Given the description of an element on the screen output the (x, y) to click on. 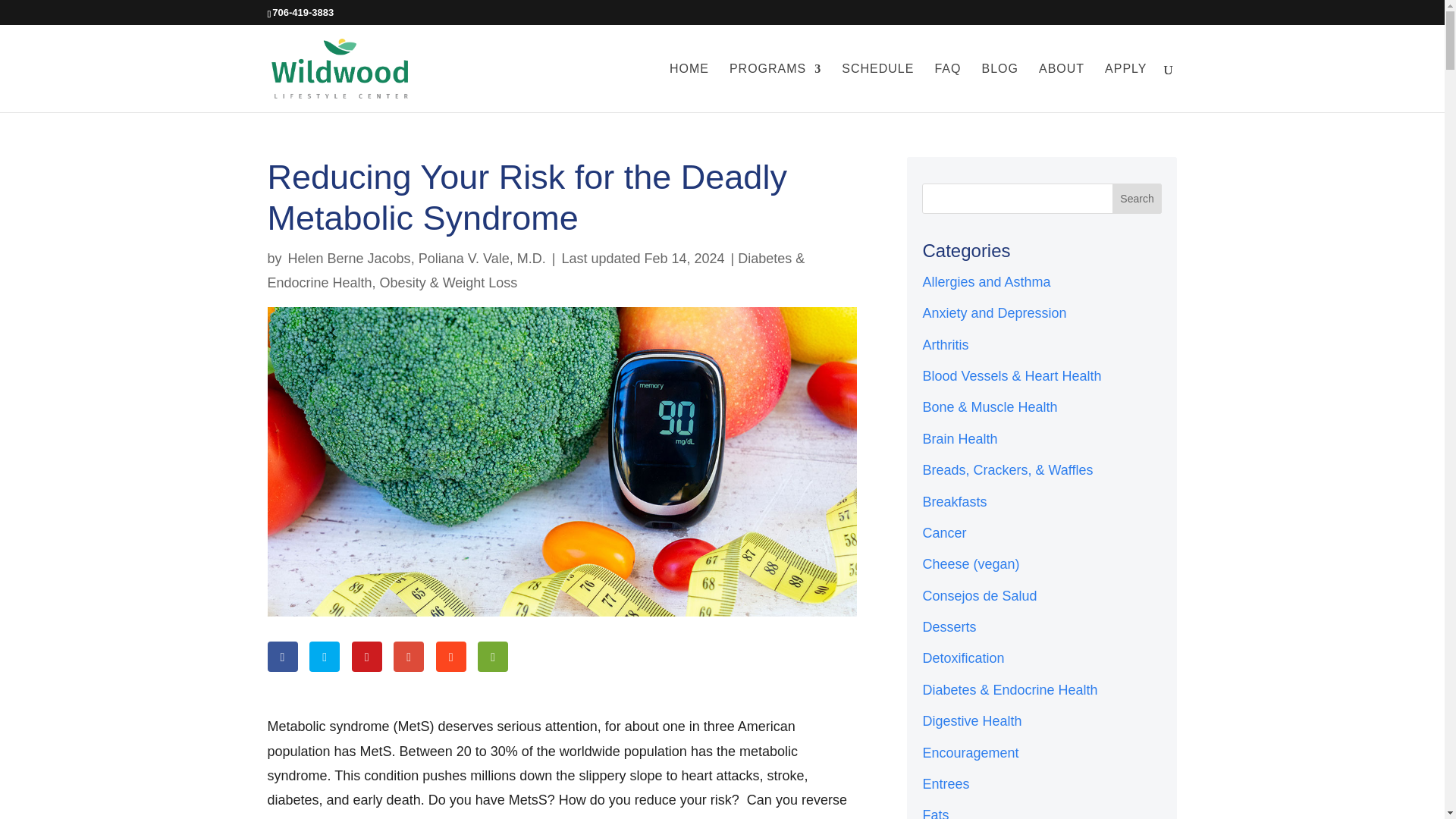
PROGRAMS (775, 87)
ABOUT (1061, 87)
SCHEDULE (877, 87)
Posts by Poliana V. Vale, M.D. (482, 258)
Helen Berne Jacobs (349, 258)
Poliana V. Vale, M.D. (482, 258)
Search (1136, 198)
Posts by Helen Berne Jacobs (349, 258)
